Given the description of an element on the screen output the (x, y) to click on. 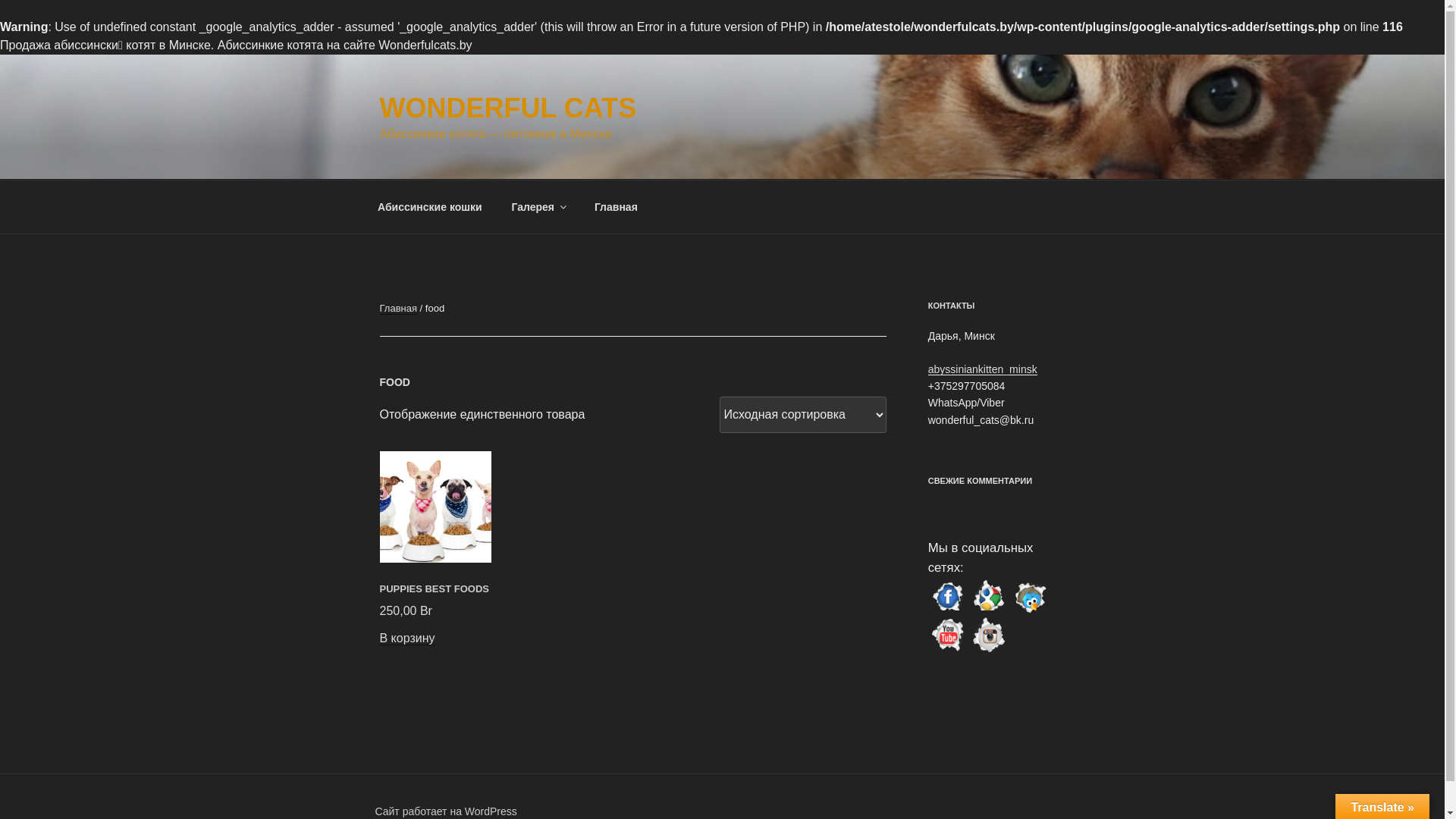
Google Element type: hover (988, 611)
abyssiniankitten_minsk Element type: text (982, 369)
Facebook Element type: hover (947, 611)
WONDERFUL CATS Element type: text (507, 107)
Twitter Element type: hover (1029, 611)
PUPPIES BEST FOODS
250,00 Br Element type: text (435, 598)
YouTube Element type: hover (947, 649)
Instagram Element type: hover (988, 649)
